Given the description of an element on the screen output the (x, y) to click on. 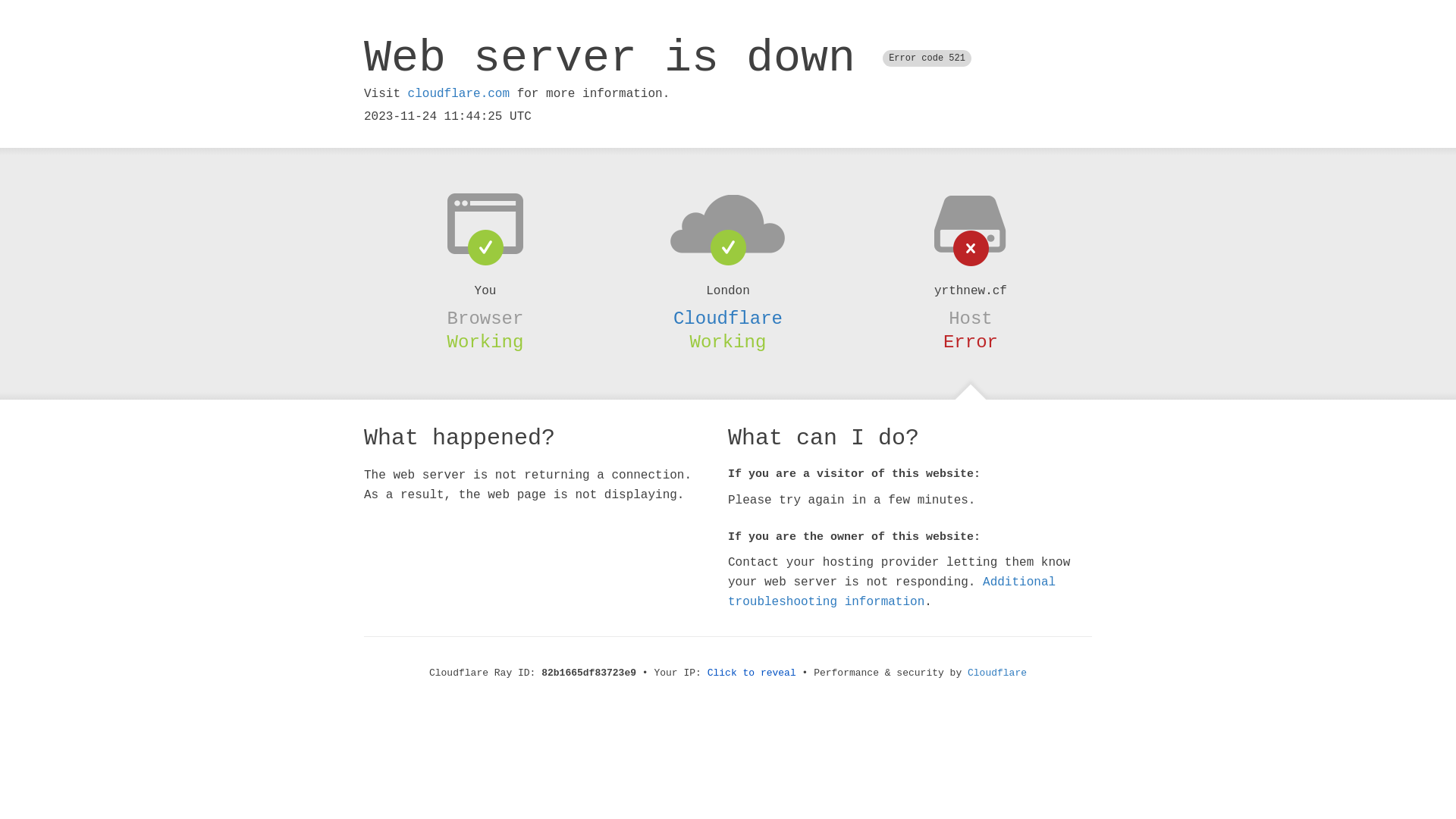
cloudflare.com Element type: text (458, 93)
Click to reveal Element type: text (751, 672)
Additional troubleshooting information Element type: text (891, 591)
Cloudflare Element type: text (996, 672)
Cloudflare Element type: text (727, 318)
